Given the description of an element on the screen output the (x, y) to click on. 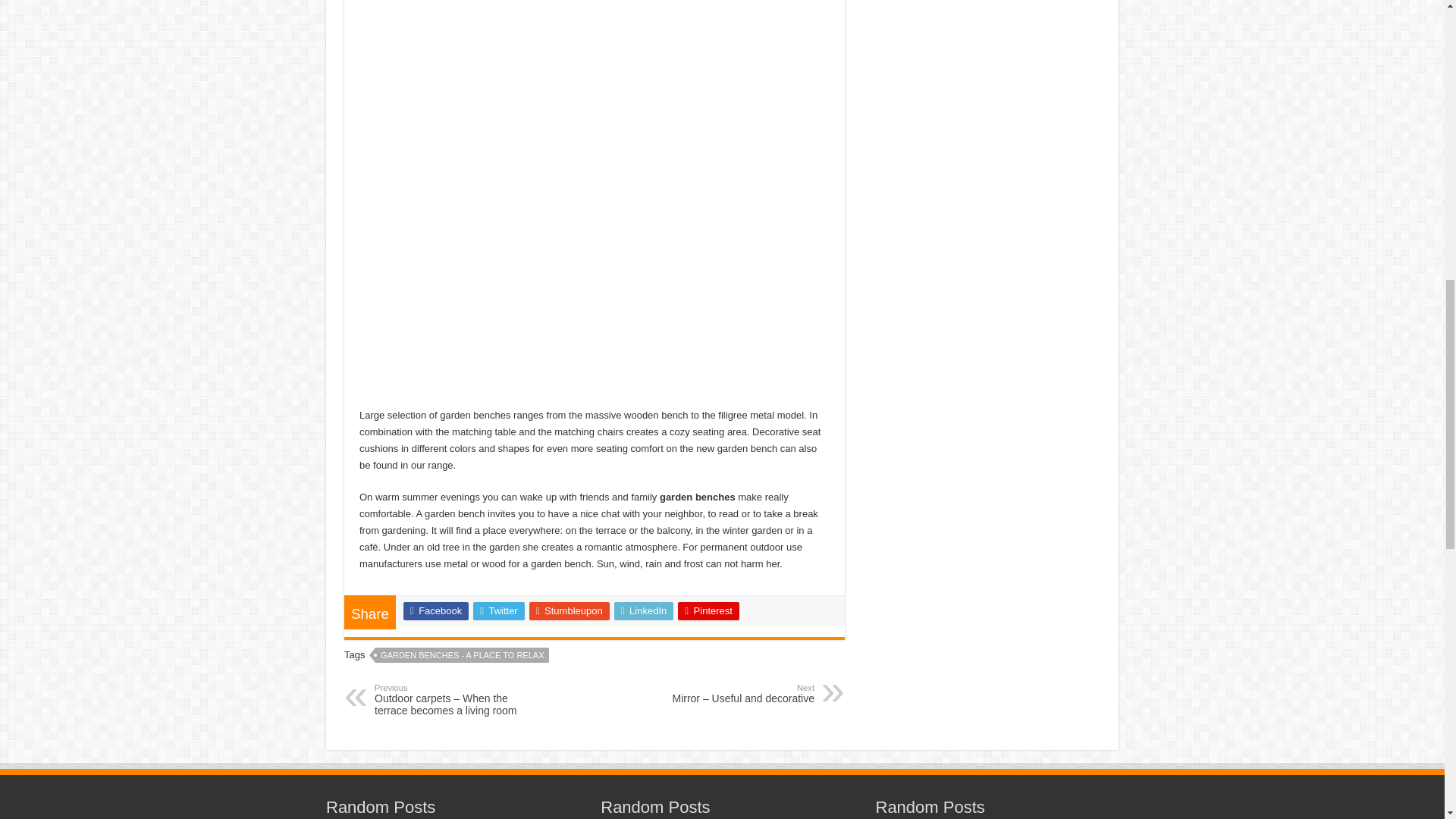
Facebook (435, 610)
Advertisement (982, 23)
Stumbleupon (569, 610)
GARDEN BENCHES - A PLACE TO RELAX (461, 654)
Twitter (498, 610)
LinkedIn (644, 610)
Pinterest (708, 610)
Scroll To Top (1421, 60)
